Given the description of an element on the screen output the (x, y) to click on. 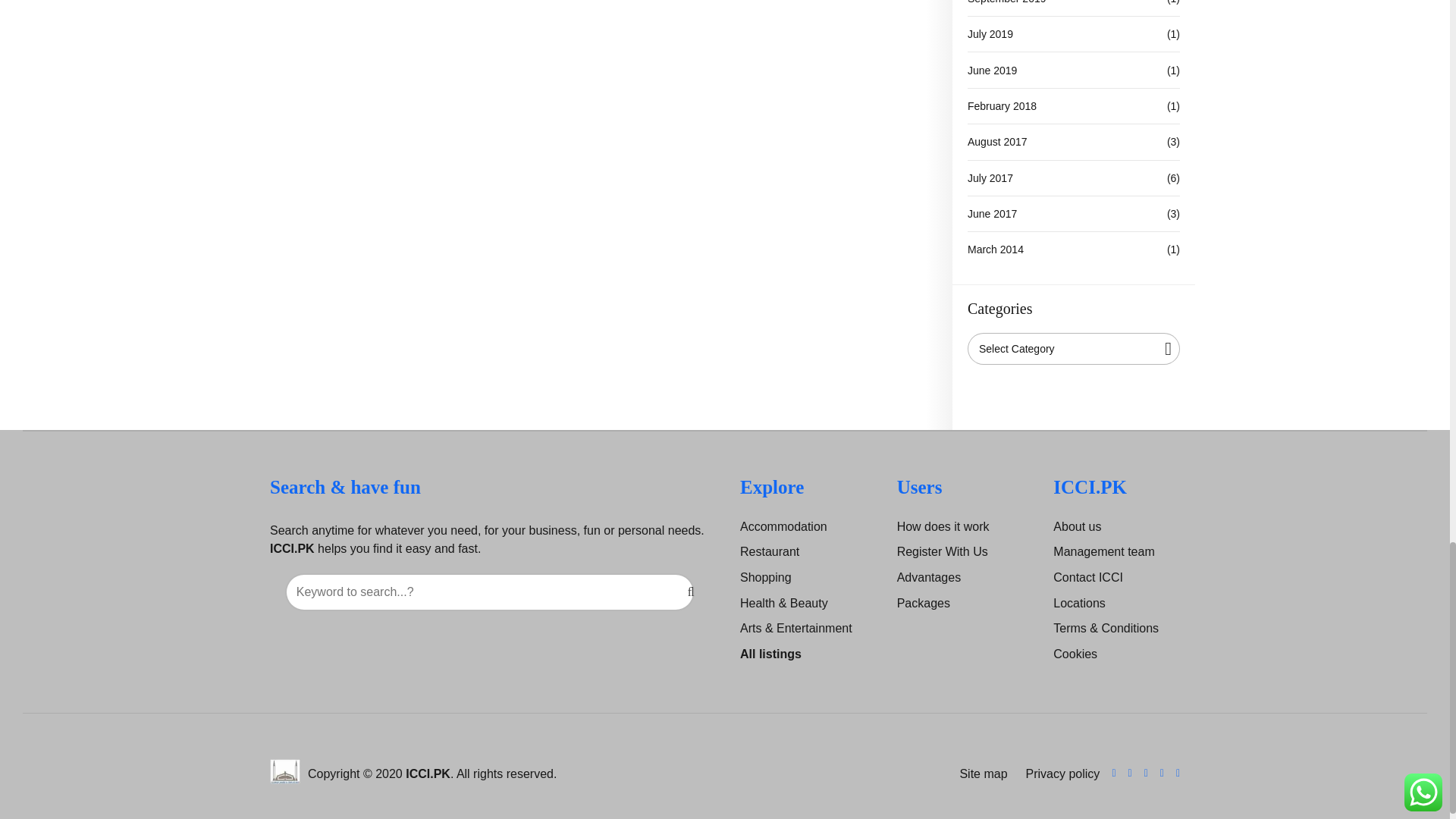
Site map (980, 774)
Privacy policy (1060, 774)
